Given the description of an element on the screen output the (x, y) to click on. 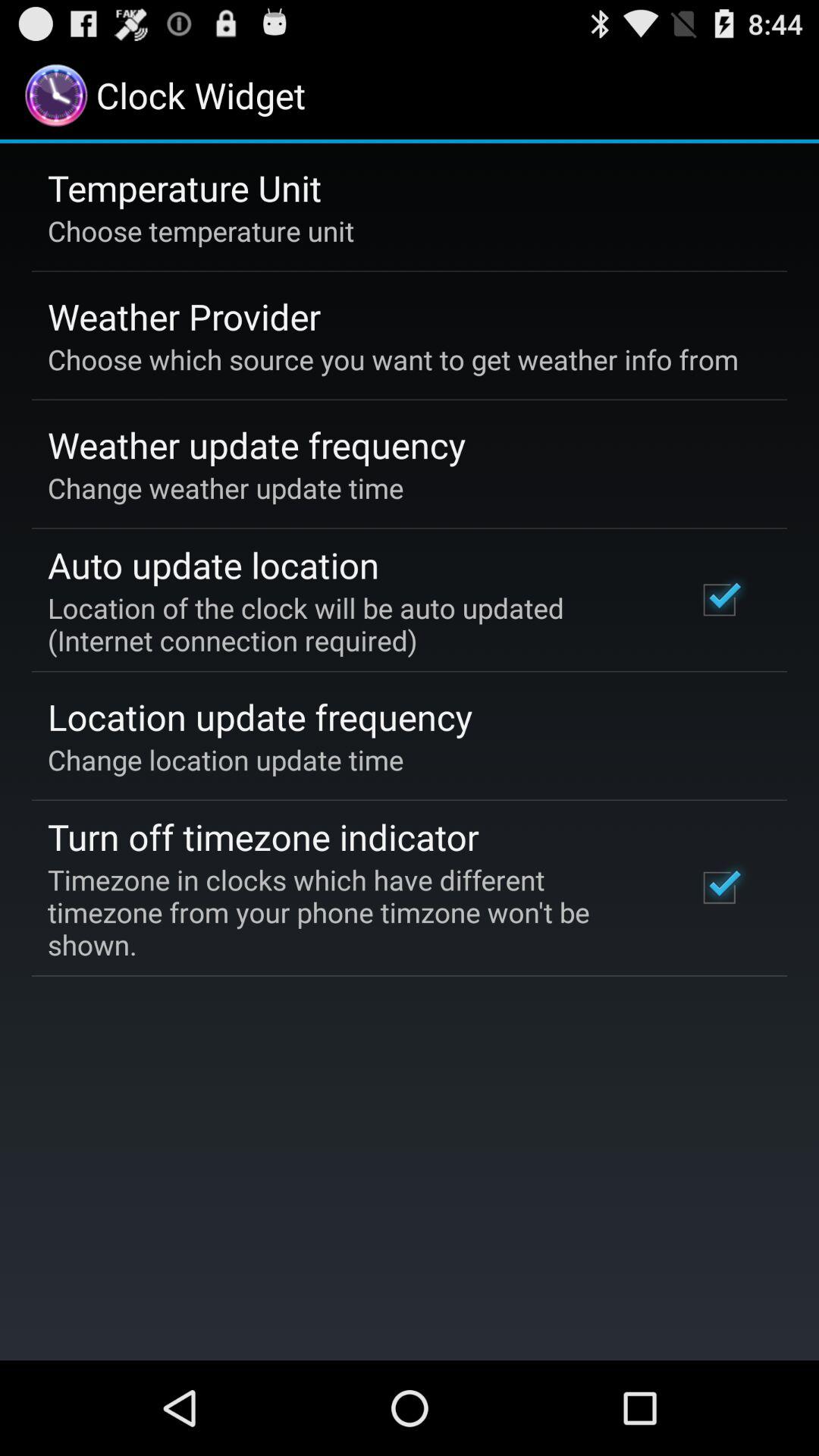
swipe until weather provider app (183, 316)
